Given the description of an element on the screen output the (x, y) to click on. 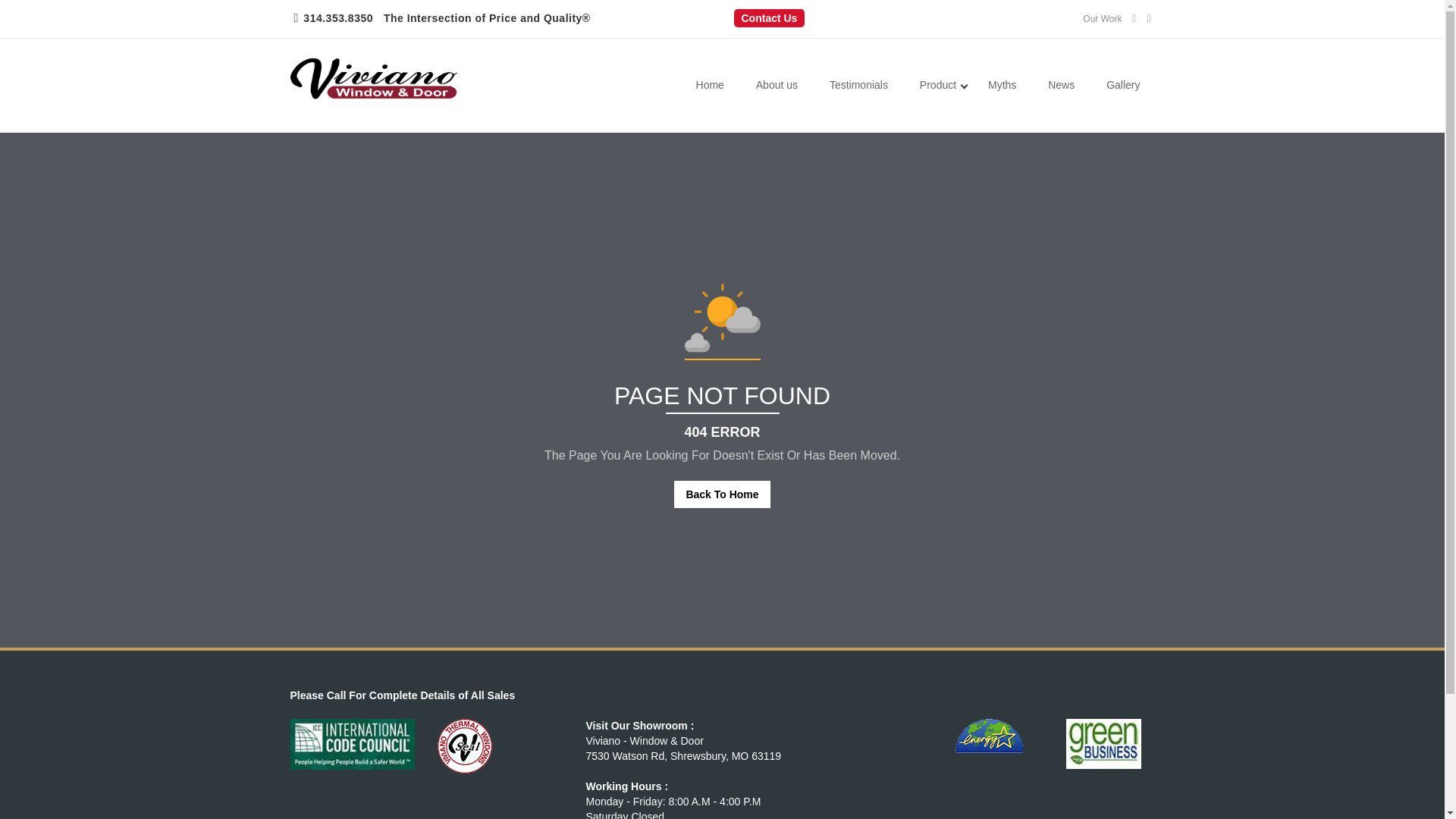
Back To Home (722, 493)
Contact Us (769, 18)
314.353.8350 (337, 18)
Our Work (1101, 19)
Testimonials (857, 85)
